Given the description of an element on the screen output the (x, y) to click on. 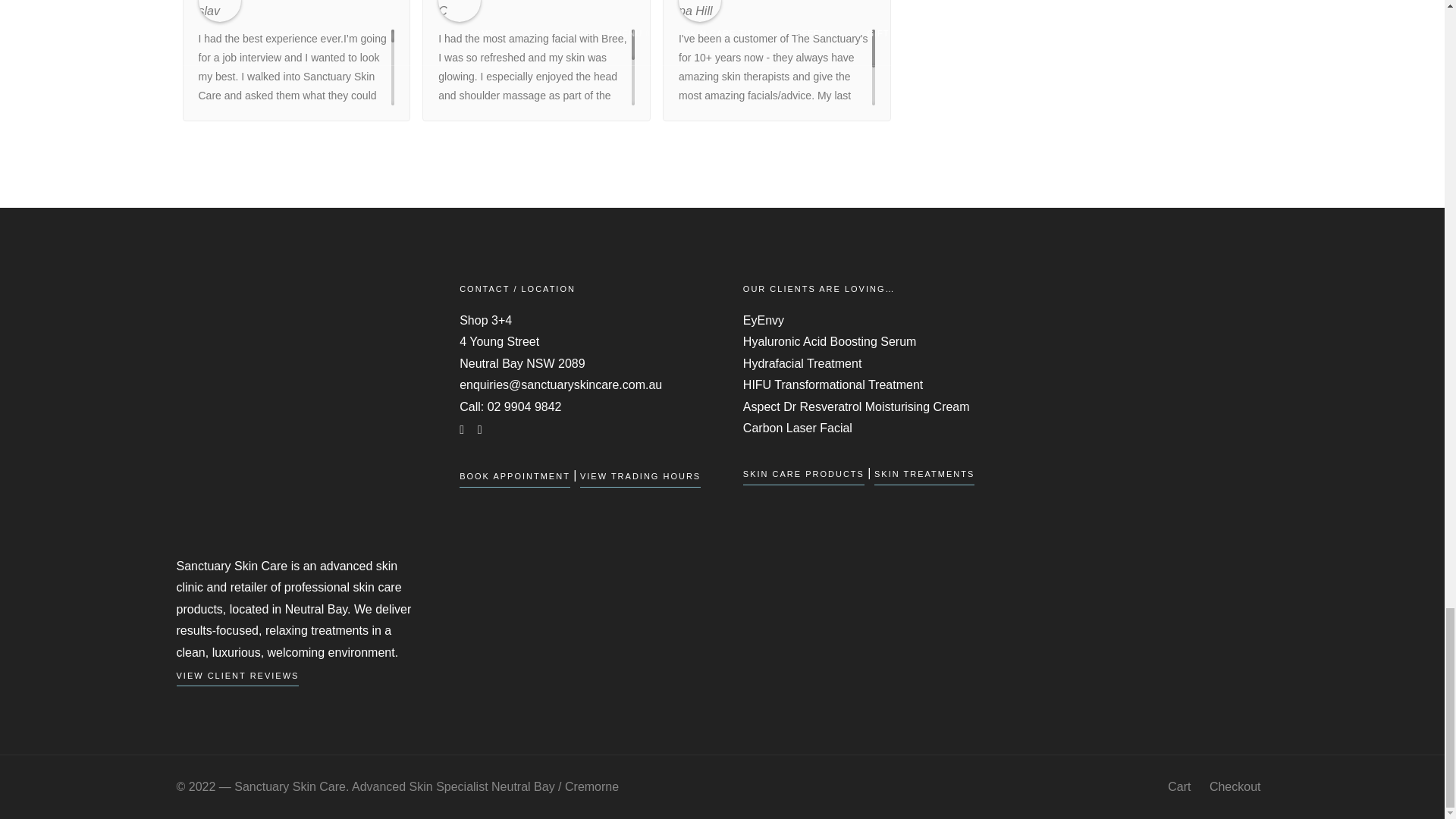
Tomislav Perak (219, 11)
Philippa Hill (699, 11)
Meg C (459, 11)
